Given the description of an element on the screen output the (x, y) to click on. 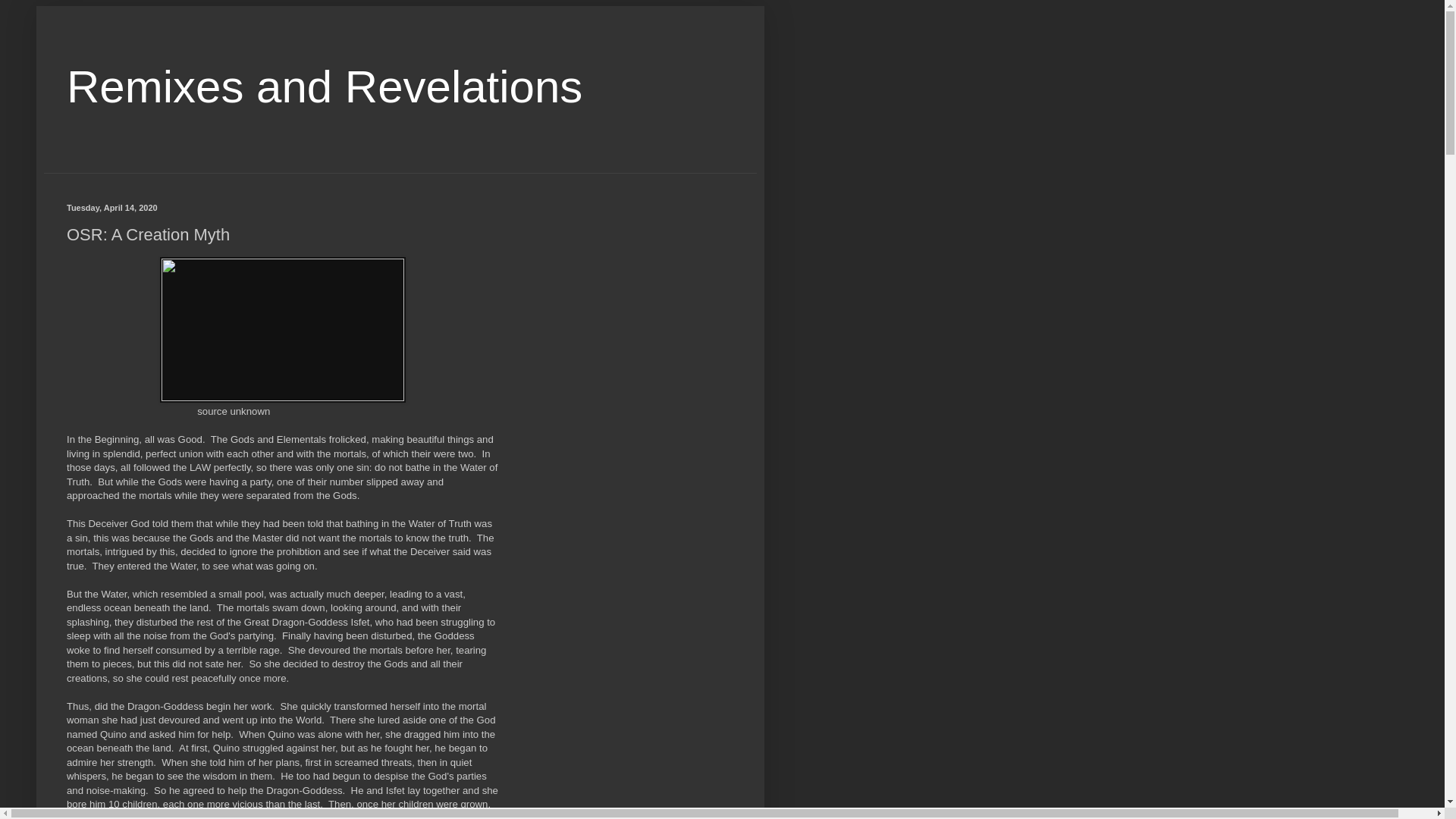
Remixes and Revelations (324, 86)
